Given the description of an element on the screen output the (x, y) to click on. 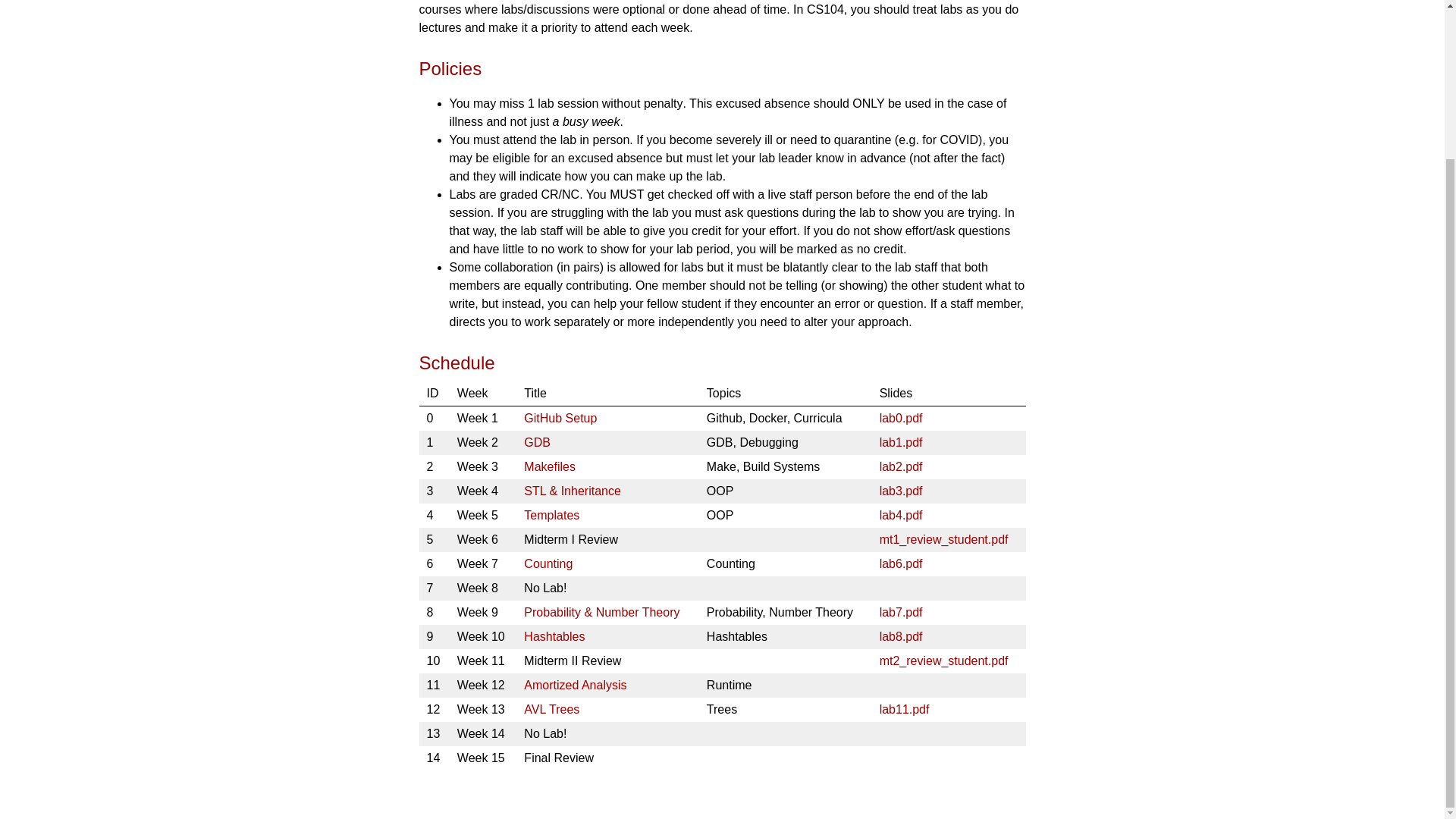
lab6.pdf (901, 563)
AVL Trees (551, 708)
lab7.pdf (901, 612)
Templates (551, 514)
Amortized Analysis (575, 684)
Makefiles (549, 466)
lab0.pdf (901, 418)
lab2.pdf (901, 466)
lab3.pdf (901, 490)
lab1.pdf (901, 441)
lab8.pdf (901, 635)
lab11.pdf (904, 708)
Counting (548, 563)
lab4.pdf (901, 514)
GitHub Setup (560, 418)
